Given the description of an element on the screen output the (x, y) to click on. 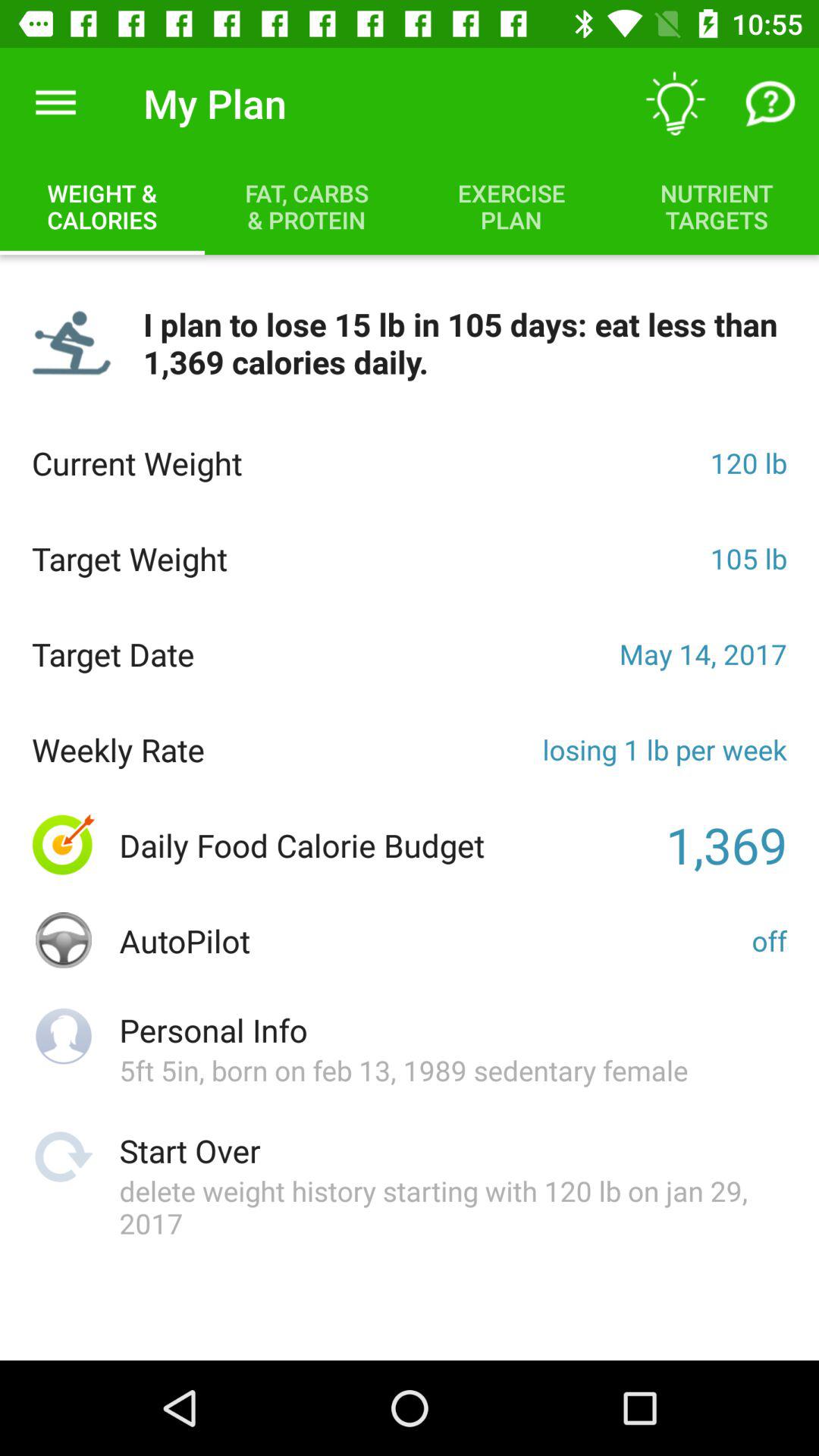
turn on item to the left of my plan (55, 103)
